Given the description of an element on the screen output the (x, y) to click on. 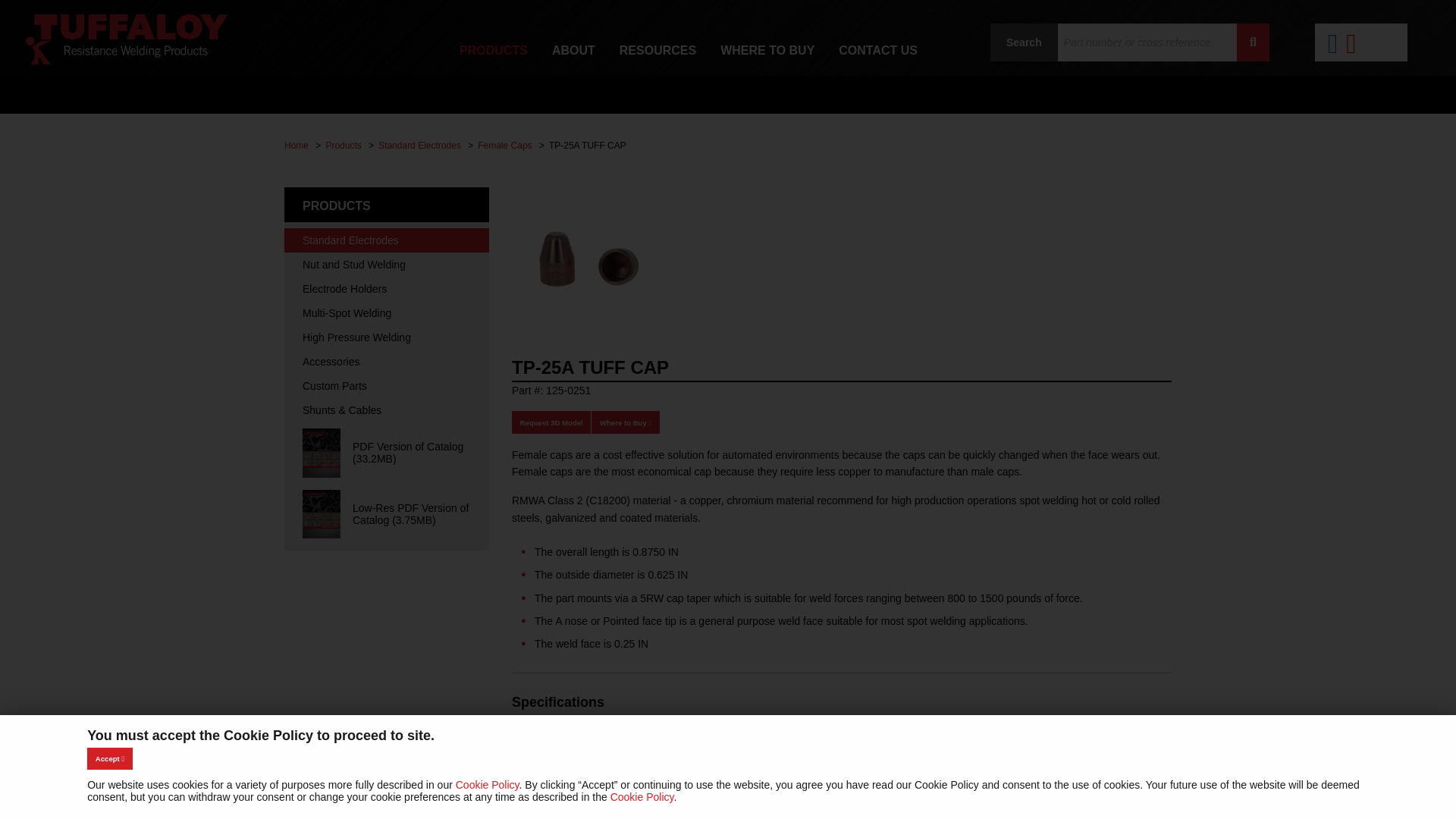
PRODUCTS (493, 50)
